Given the description of an element on the screen output the (x, y) to click on. 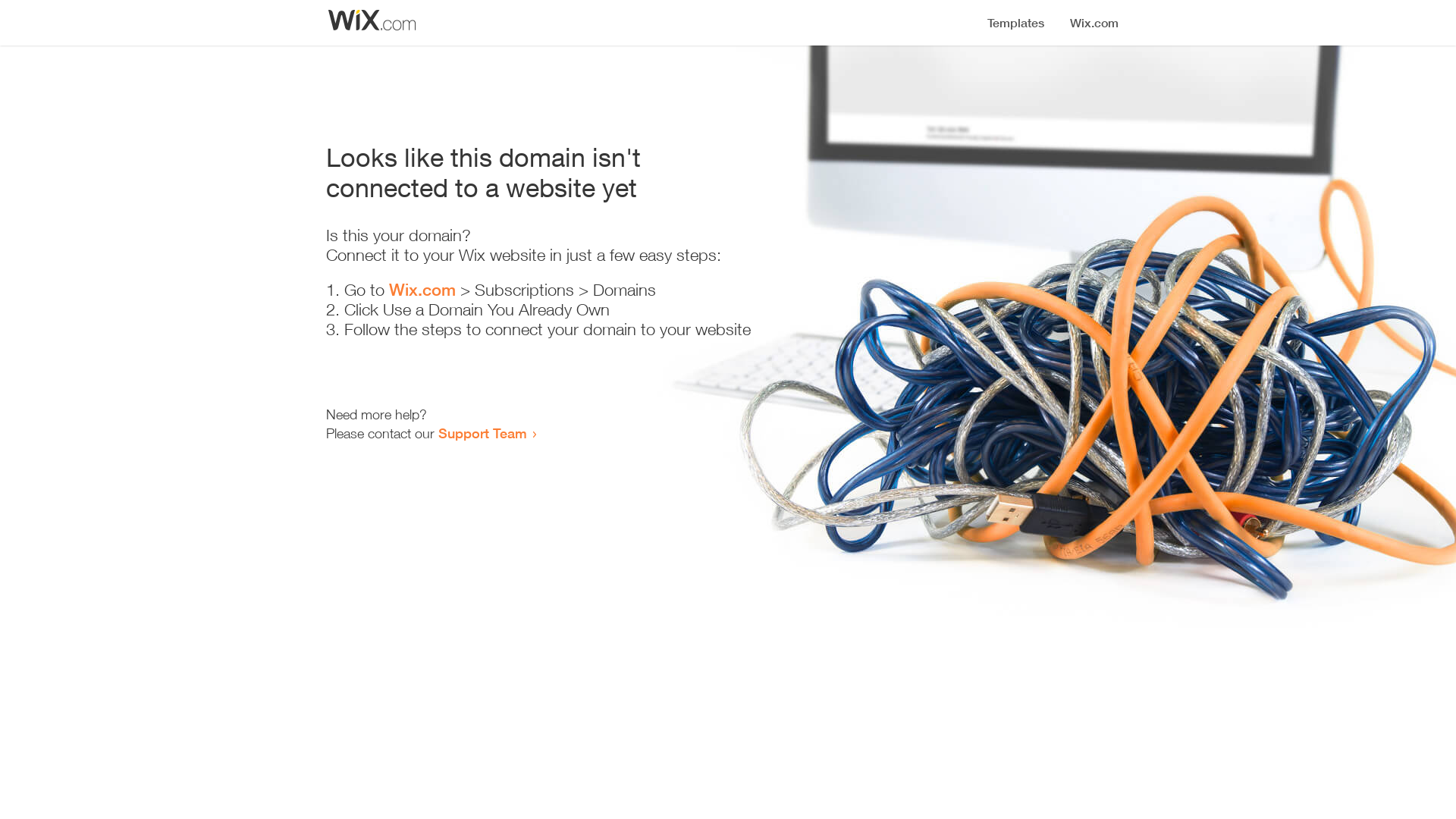
Support Team Element type: text (482, 432)
Wix.com Element type: text (422, 289)
